Given the description of an element on the screen output the (x, y) to click on. 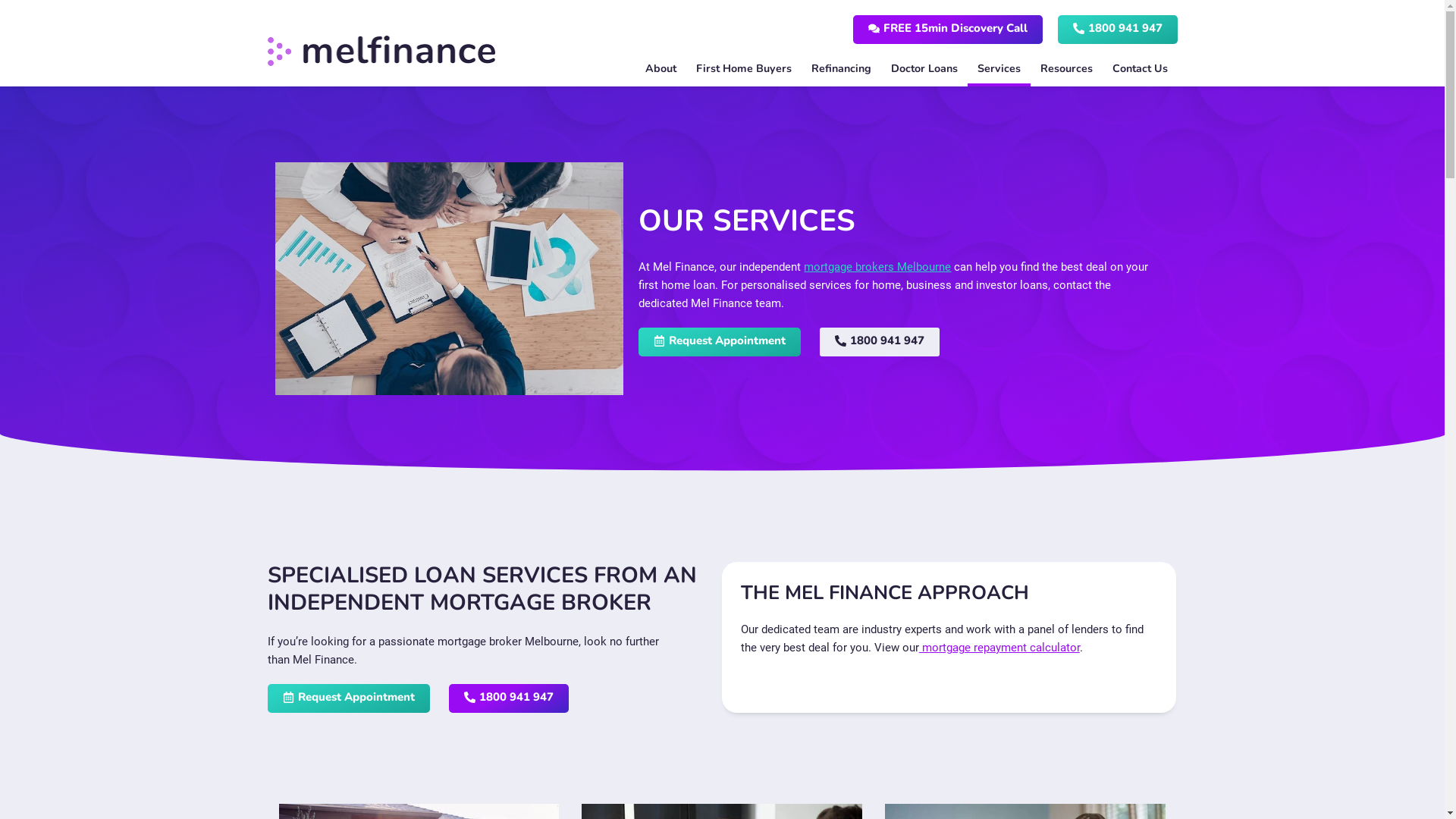
Request Appointment Element type: text (719, 341)
FREE 15min Discovery Call Element type: text (946, 29)
1800 941 947 Element type: text (879, 341)
1800 941 947 Element type: text (508, 698)
About Element type: text (660, 68)
Services Element type: text (998, 68)
mortgage brokers Melbourne Element type: text (876, 266)
Request Appointment Element type: text (347, 698)
Doctor Loans Element type: text (924, 68)
Refinancing Element type: text (840, 68)
 mortgage repayment calculator Element type: text (999, 647)
First Home Buyers Element type: text (742, 68)
1800 941 947 Element type: text (1116, 29)
Resources Element type: text (1065, 68)
Contact Us Element type: text (1139, 68)
